Given the description of an element on the screen output the (x, y) to click on. 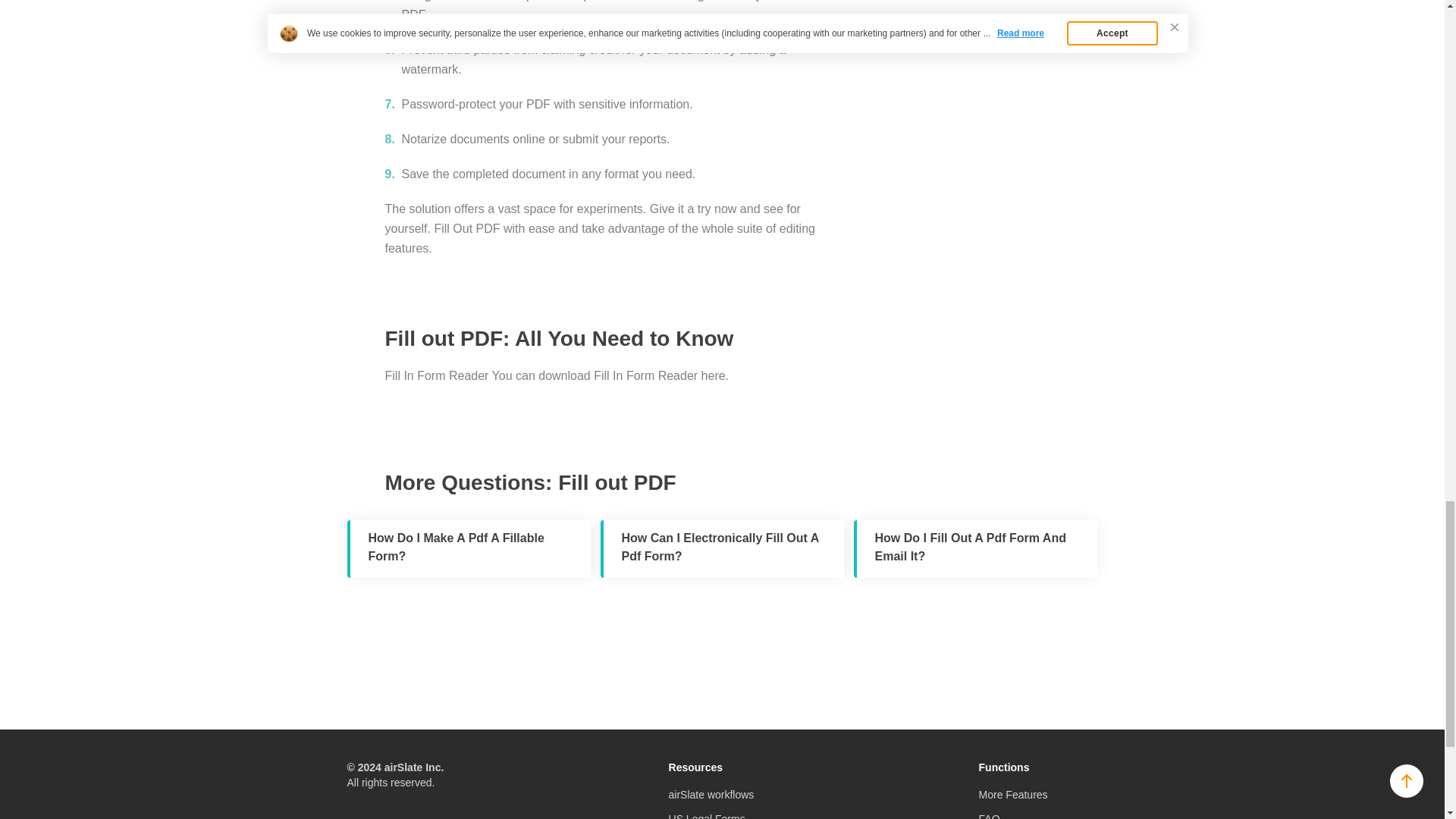
How Can I Electronically Fill Out A Pdf Form? (721, 549)
airSlate workflows (711, 794)
How Do I Fill Out A Pdf Form And Email It? (975, 549)
FAQ (989, 816)
More Features (1013, 794)
How Do I Make A Pdf A Fillable Form? (469, 549)
US Legal Forms (706, 816)
